Given the description of an element on the screen output the (x, y) to click on. 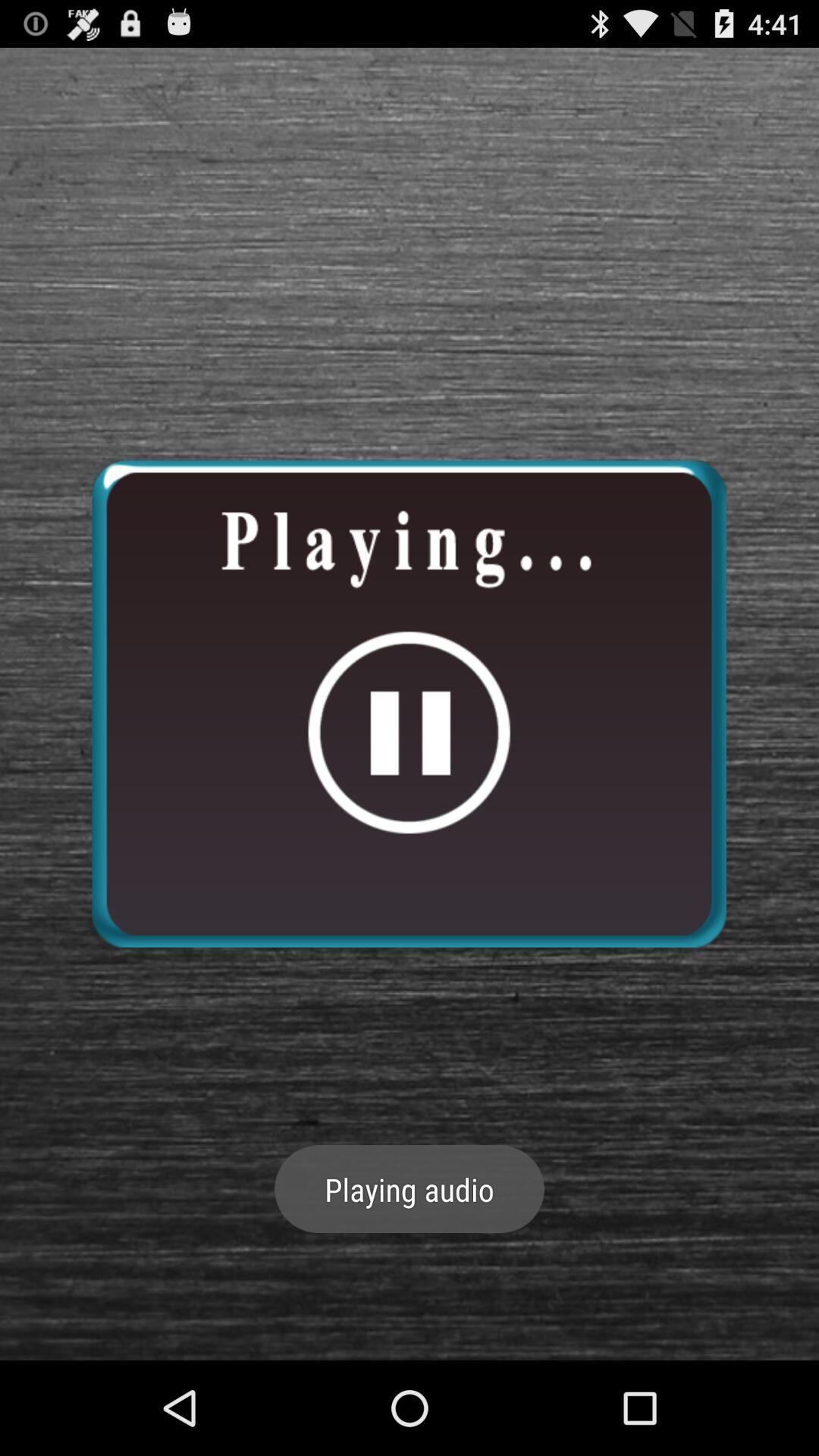
play button (409, 703)
